Given the description of an element on the screen output the (x, y) to click on. 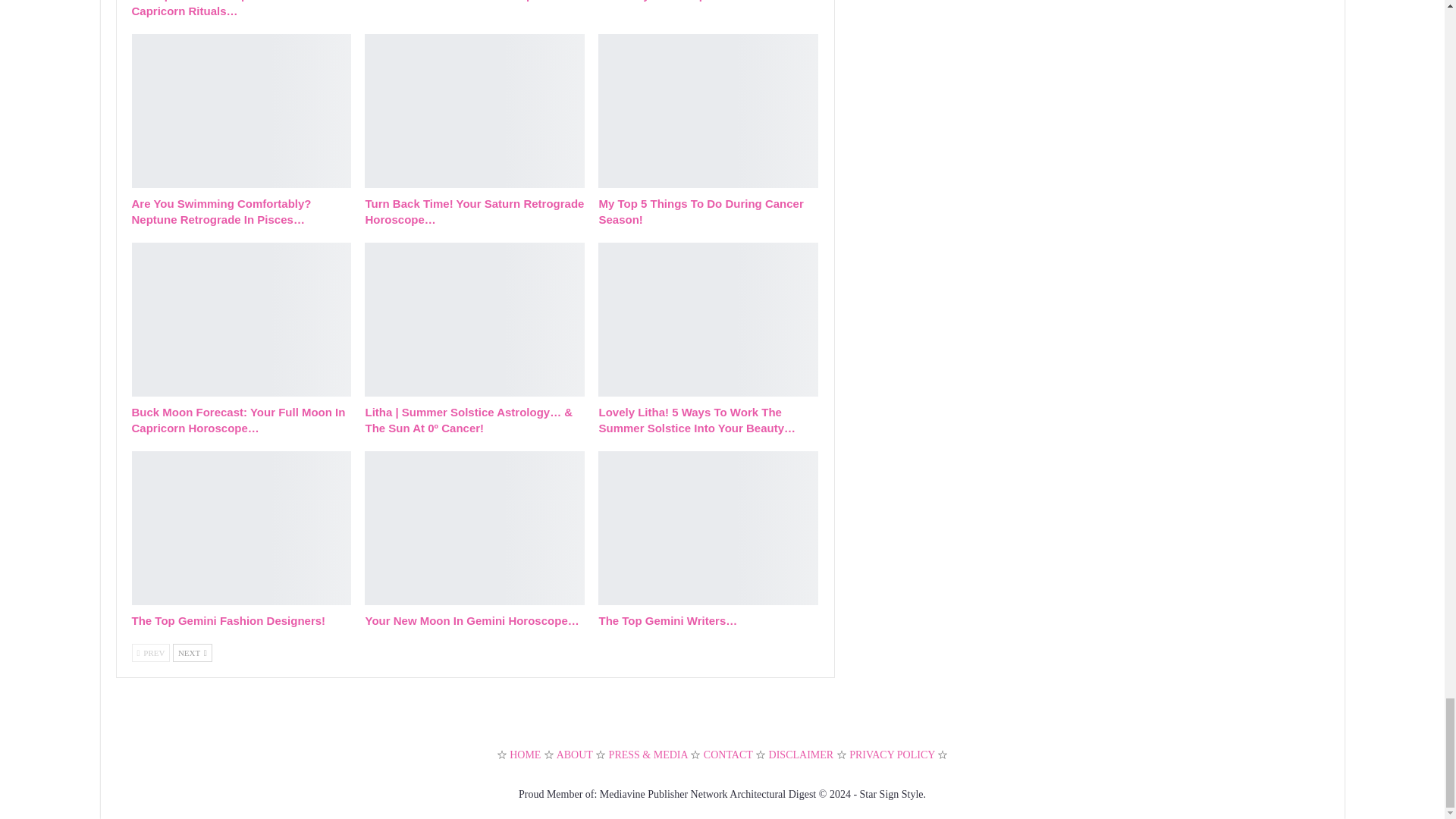
My Top 5 Things To Do During Cancer Season! (708, 111)
